Given the description of an element on the screen output the (x, y) to click on. 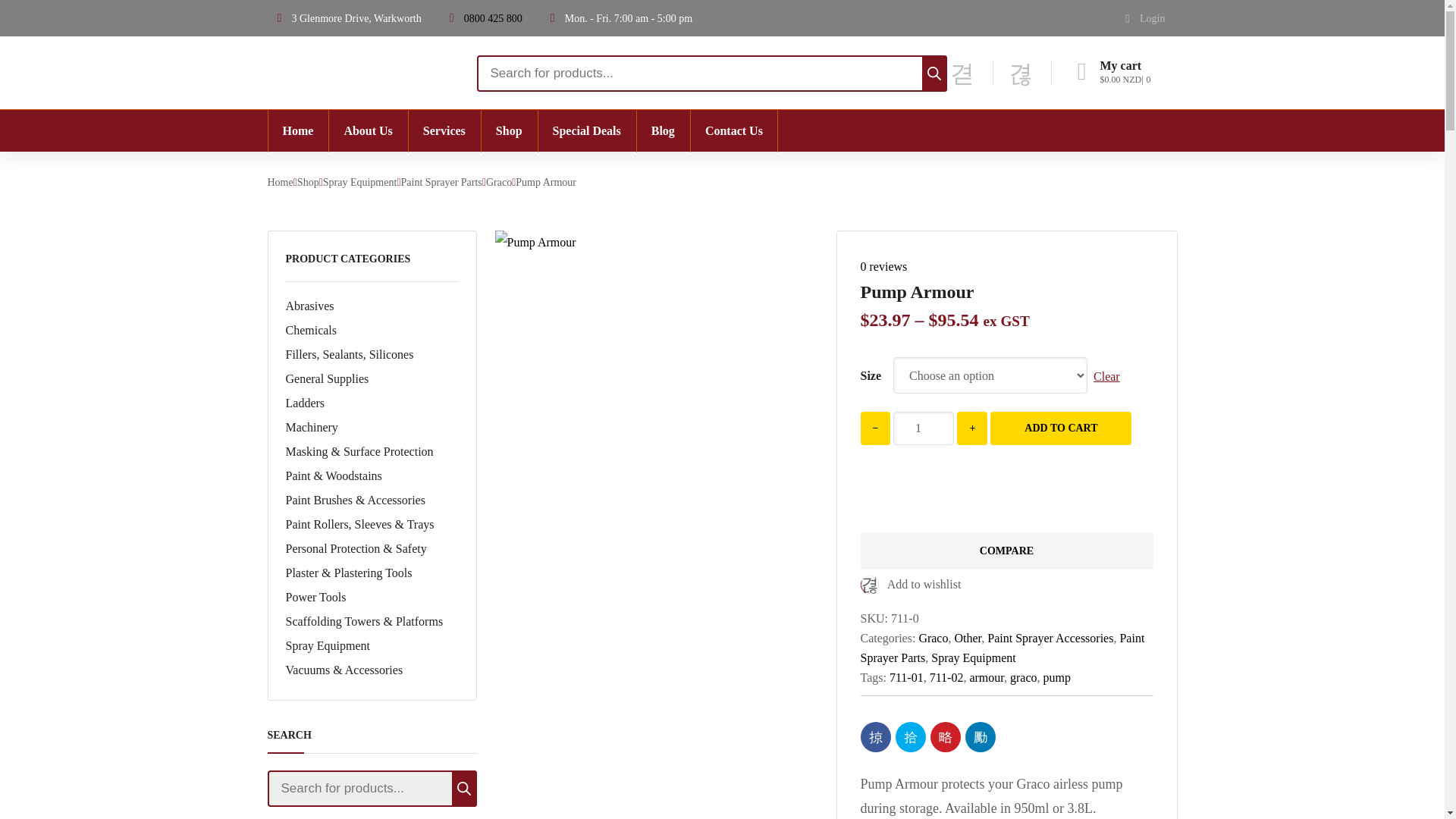
711-01 (535, 242)
Share on Pinterest (944, 736)
Share on Facebook (874, 736)
Share on LinkedIn (978, 736)
Tweet this! (909, 736)
1 (923, 428)
View your shopping cart (1124, 72)
